Given the description of an element on the screen output the (x, y) to click on. 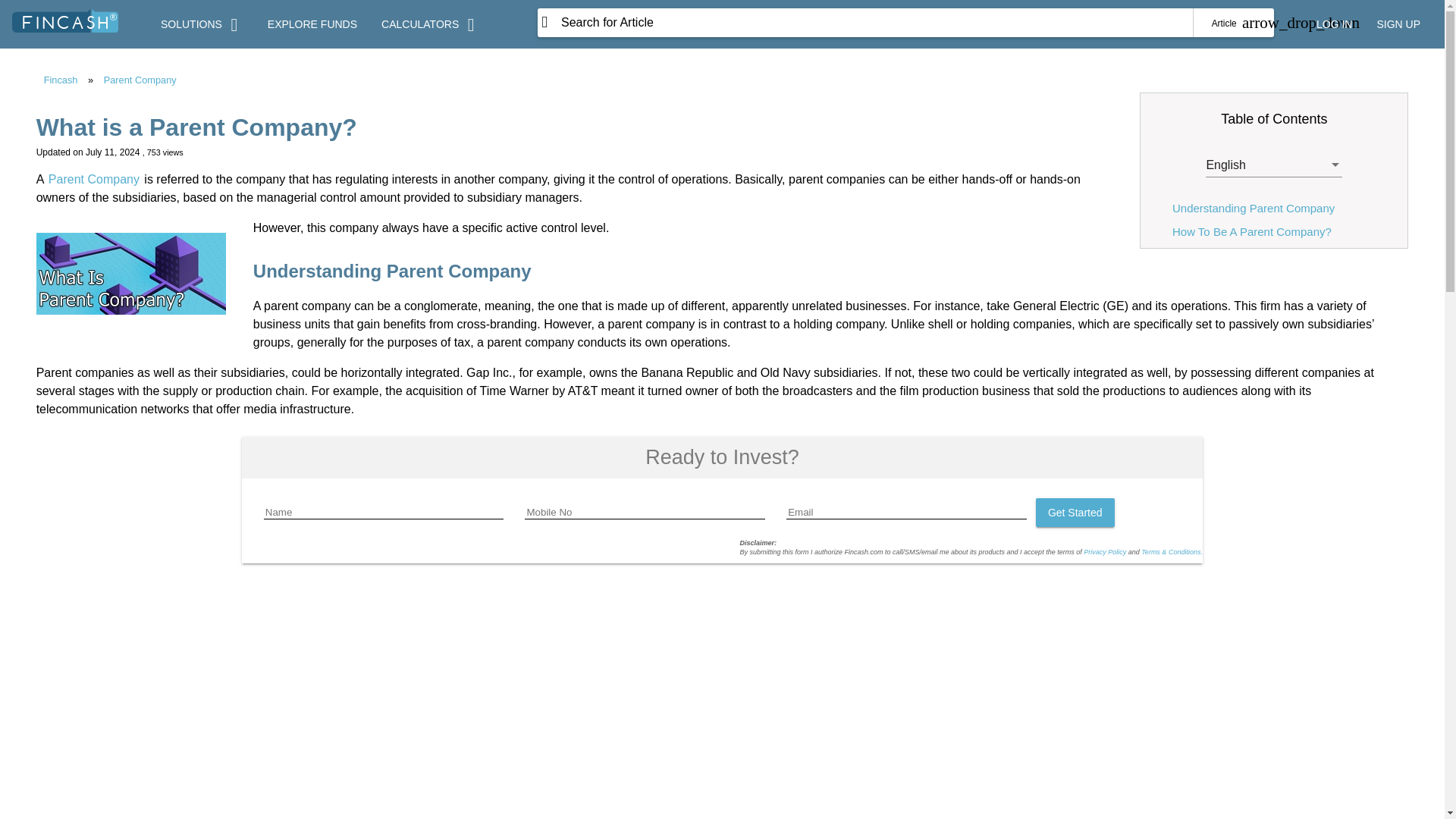
Understanding Parent Company (1253, 207)
Parent Company (140, 79)
How To Be A Parent Company? (1252, 231)
EXPLORE FUNDS (312, 23)
Fincash (60, 79)
Parent Company (93, 178)
SIGN UP (1398, 23)
Privacy Policy (1104, 551)
fincash logo (64, 20)
LOG IN (1334, 23)
Get Started (1075, 511)
